Given the description of an element on the screen output the (x, y) to click on. 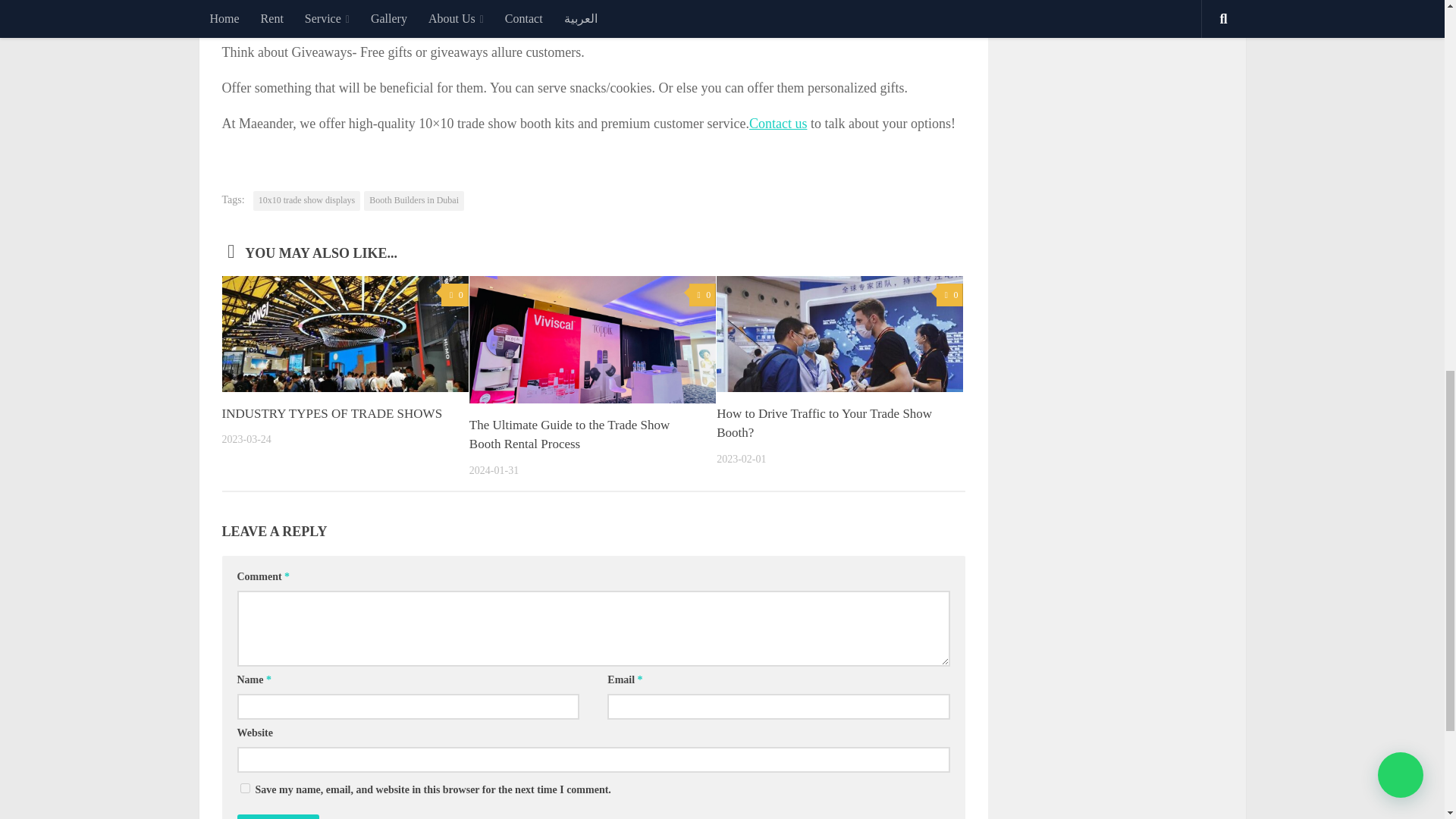
Booth Builders in Dubai (414, 200)
Post Comment (276, 816)
0 (702, 295)
Contact us (778, 123)
The Ultimate Guide to the Trade Show Booth Rental Process (568, 434)
0 (454, 295)
INDUSTRY TYPES OF TRADE SHOWS (331, 413)
yes (244, 787)
10x10 trade show displays (307, 200)
